Given the description of an element on the screen output the (x, y) to click on. 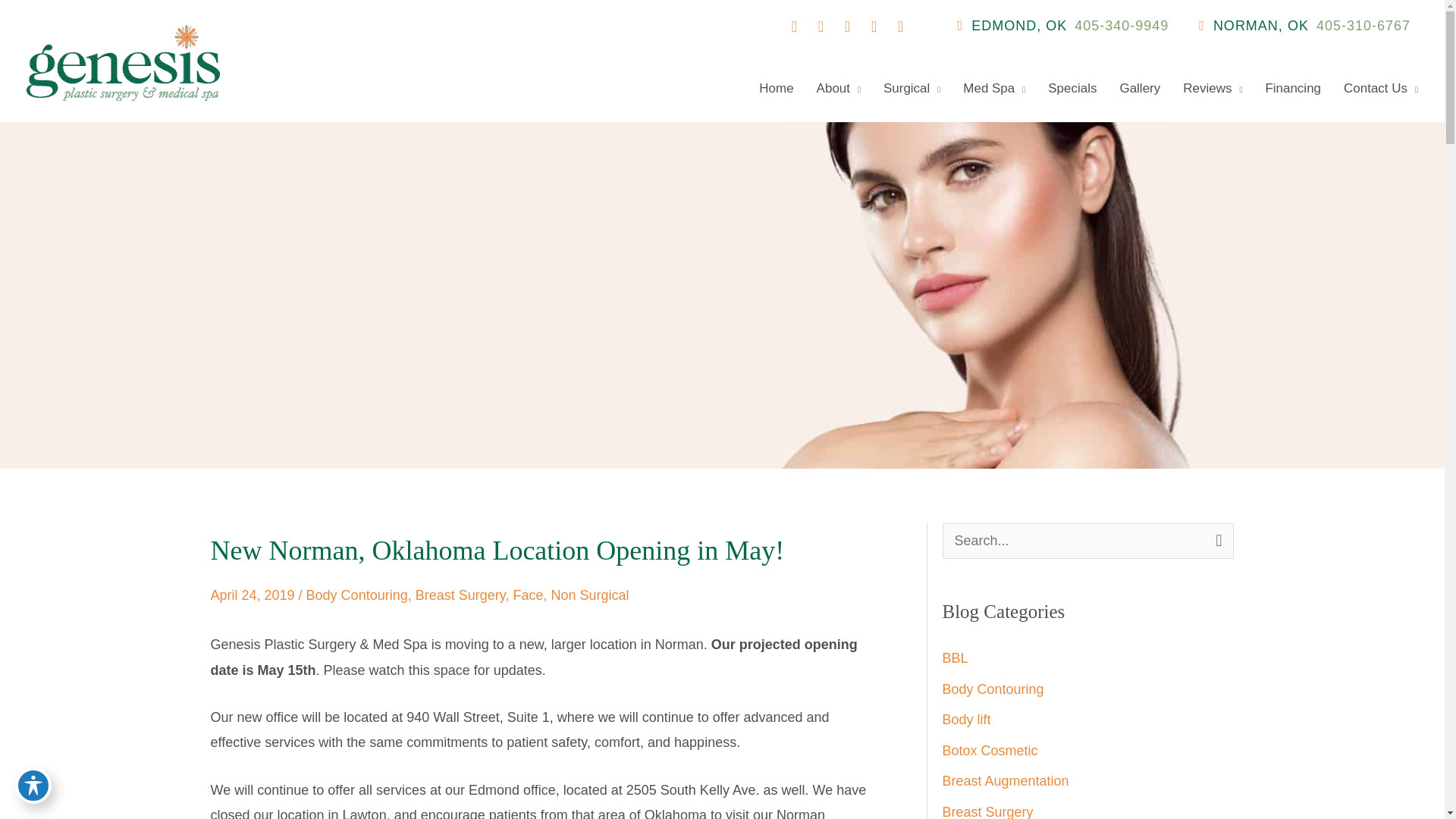
405-340-9949 (1121, 25)
NORMAN, OK (1253, 25)
Home (764, 88)
Surgical (900, 88)
405-310-6767 (1363, 25)
EDMOND, OK (1012, 25)
About (826, 88)
